Given the description of an element on the screen output the (x, y) to click on. 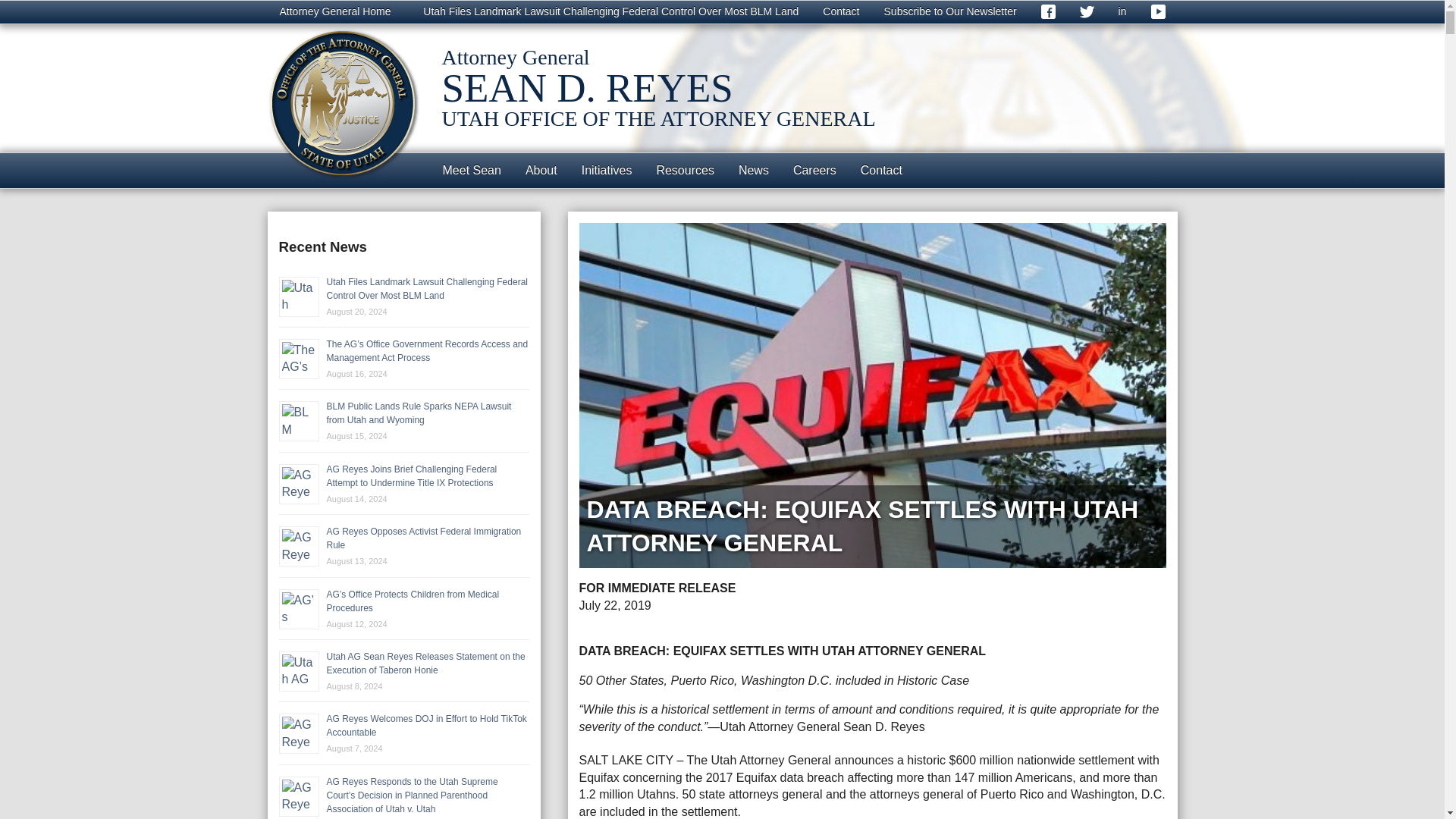
Attorney General Home (334, 11)
Subscribe to Our Newsletter (950, 11)
Initiatives (607, 170)
Facebook (1048, 11)
Utah Office of the Attorney General (342, 103)
Resources (684, 170)
Contact (840, 11)
in (1122, 11)
Meet Sean (471, 170)
